Given the description of an element on the screen output the (x, y) to click on. 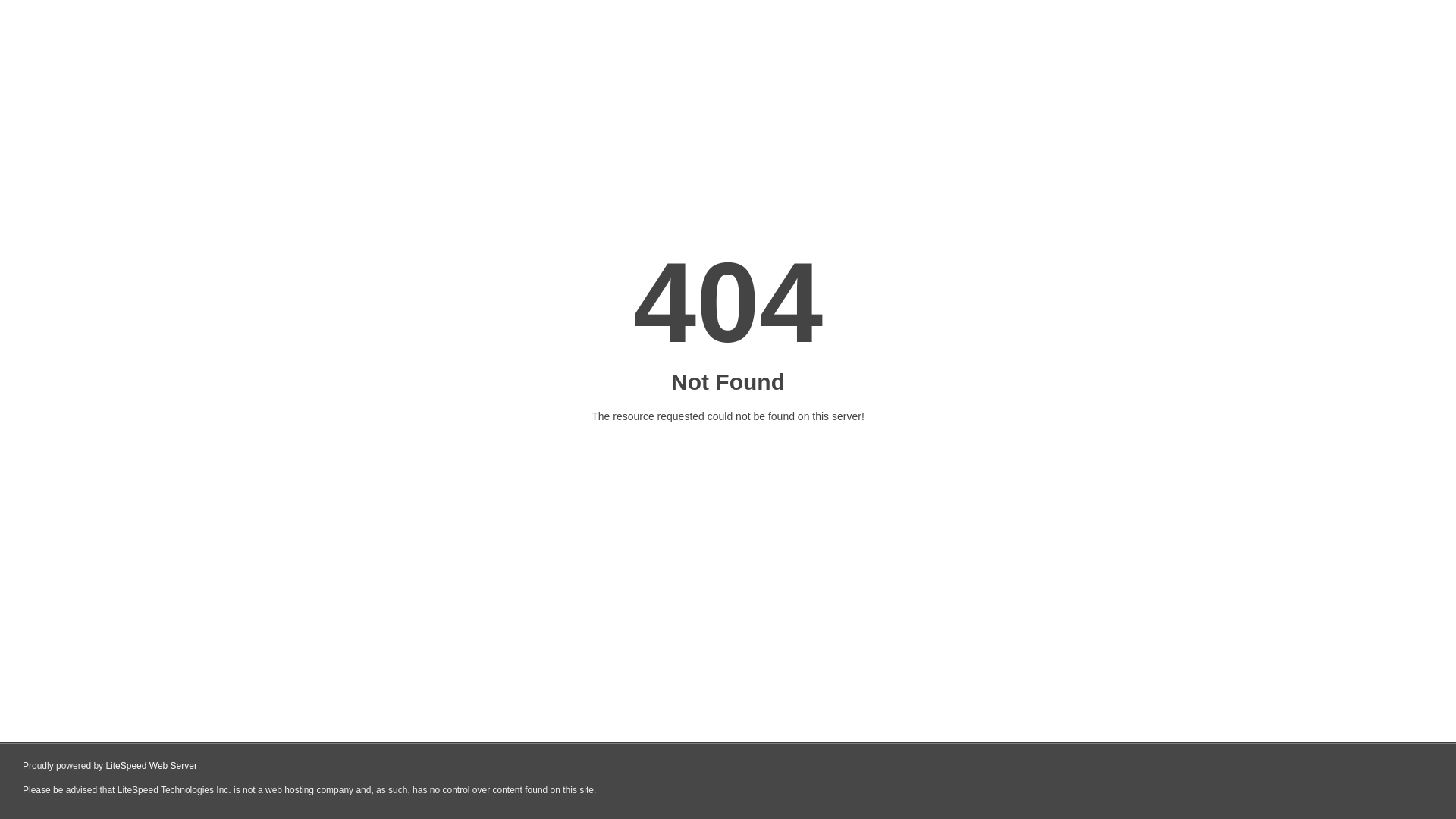
LiteSpeed Web Server Element type: text (151, 765)
